Given the description of an element on the screen output the (x, y) to click on. 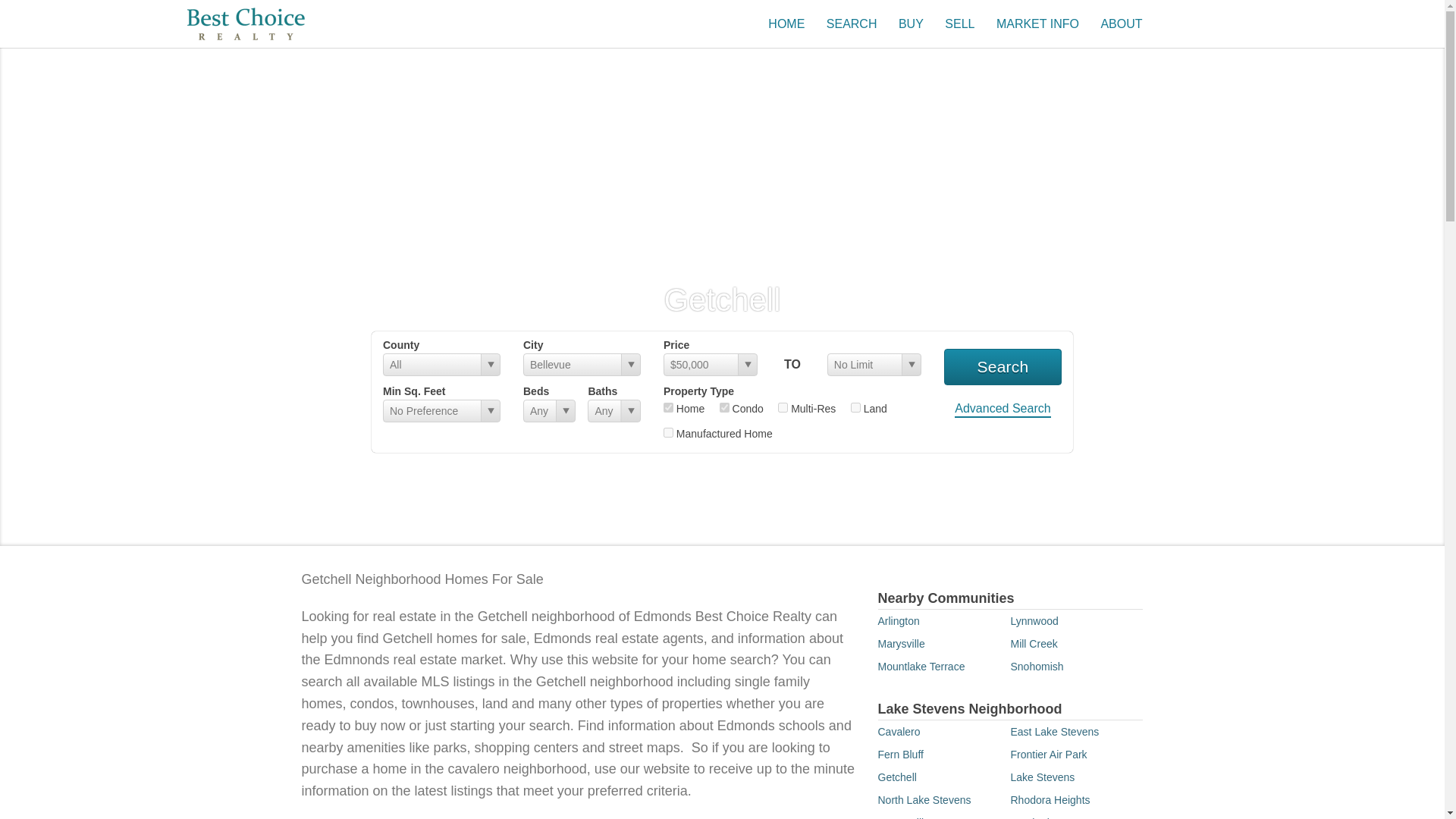
SELL (959, 23)
Advanced Search (1002, 409)
BUY (910, 23)
res (667, 407)
mul (782, 407)
HOME (786, 23)
Search (1002, 366)
man (667, 432)
Lynnwood (1034, 621)
Snohomish (1036, 666)
Cavalero (898, 731)
con (724, 407)
East Lake Stevens (1054, 731)
ABOUT (1120, 23)
Mill Creek (1033, 644)
